Given the description of an element on the screen output the (x, y) to click on. 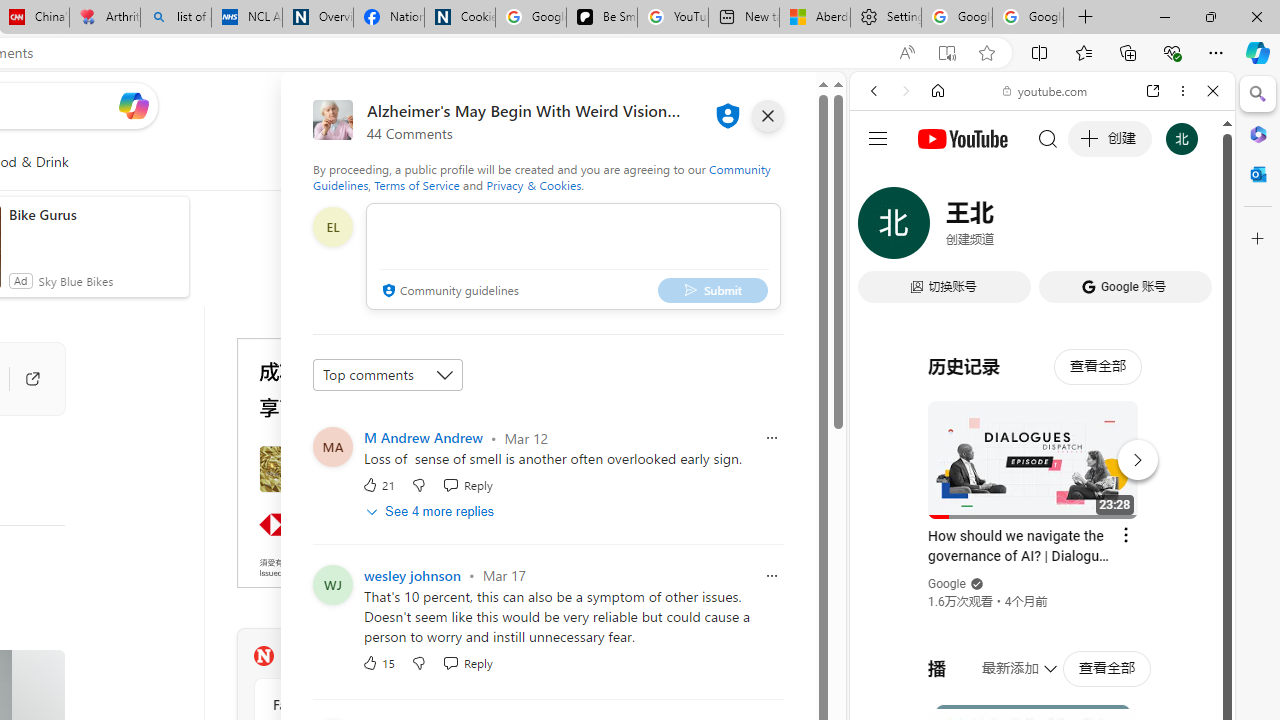
SEARCH TOOLS (1093, 228)
Music (1042, 543)
Search Filter, IMAGES (939, 228)
Privacy & Cookies (534, 184)
Terms of Service (416, 184)
21 Like (378, 484)
Web scope (882, 180)
Microsoft rewards (707, 105)
